Given the description of an element on the screen output the (x, y) to click on. 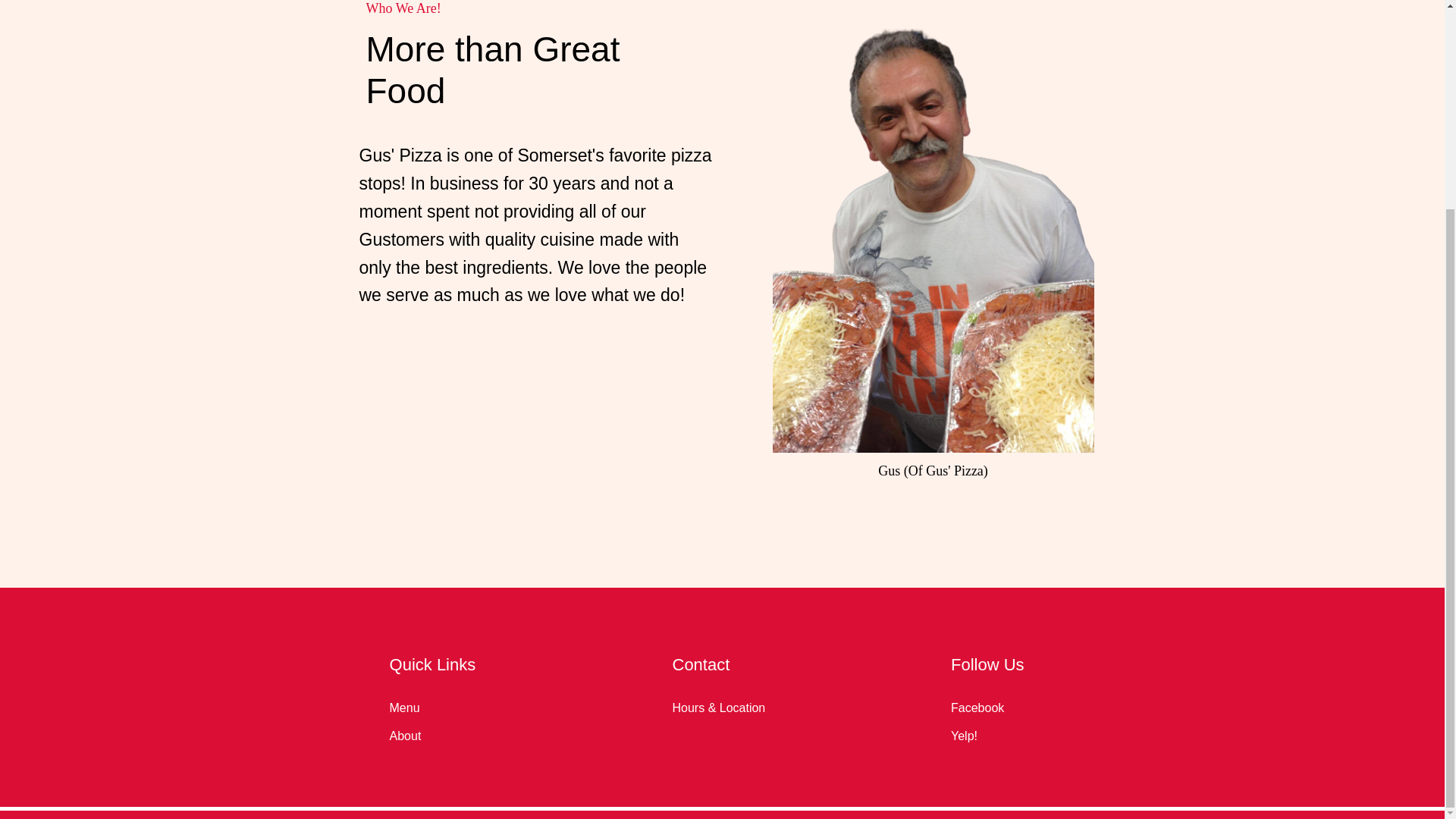
Facebook (977, 707)
Menu (405, 707)
About (406, 735)
Yelp! (963, 735)
